Given the description of an element on the screen output the (x, y) to click on. 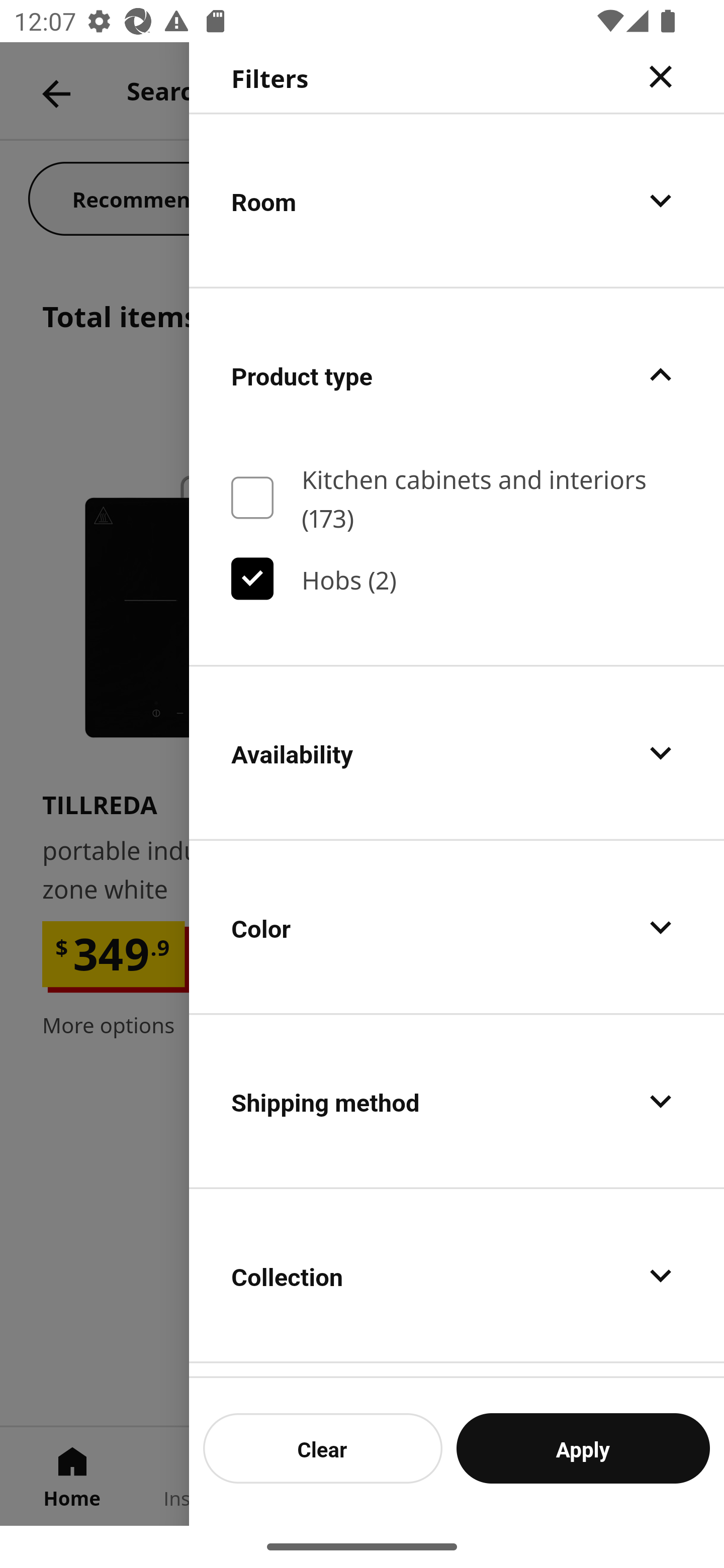
Room (456, 200)
Product type (456, 374)
Kitchen cabinets and interiors (173) (456, 497)
Hobs (2) (456, 579)
Availability (456, 752)
Color (456, 927)
Shipping method (456, 1100)
Collection (456, 1275)
Clear (322, 1447)
Apply (583, 1447)
